Given the description of an element on the screen output the (x, y) to click on. 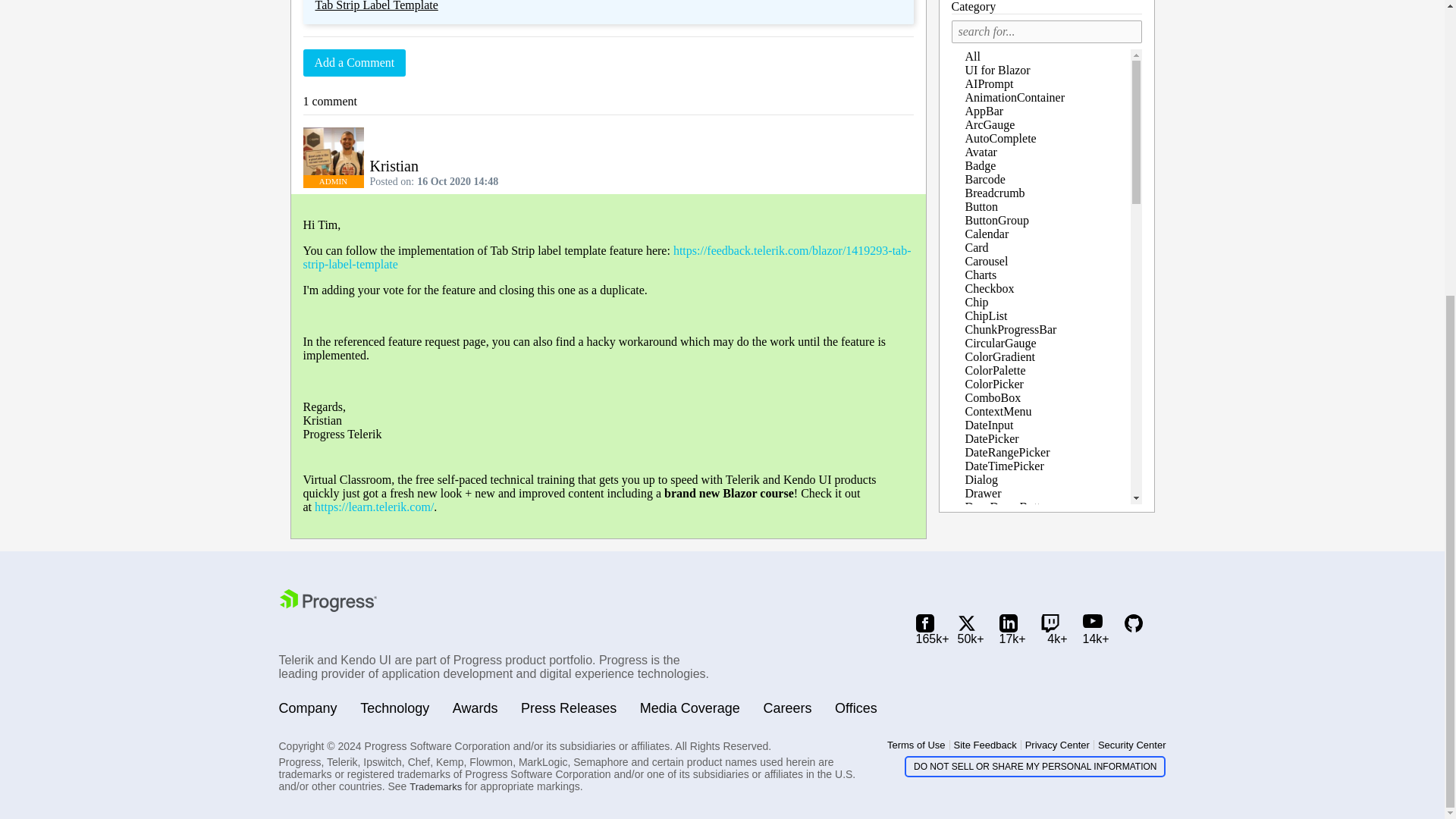
AIPrompt (988, 83)
UI for Blazor (996, 69)
AppBar (983, 110)
Tab Strip Label Template (376, 5)
Add a Comment (354, 62)
AnimationContainer (1013, 97)
